Given the description of an element on the screen output the (x, y) to click on. 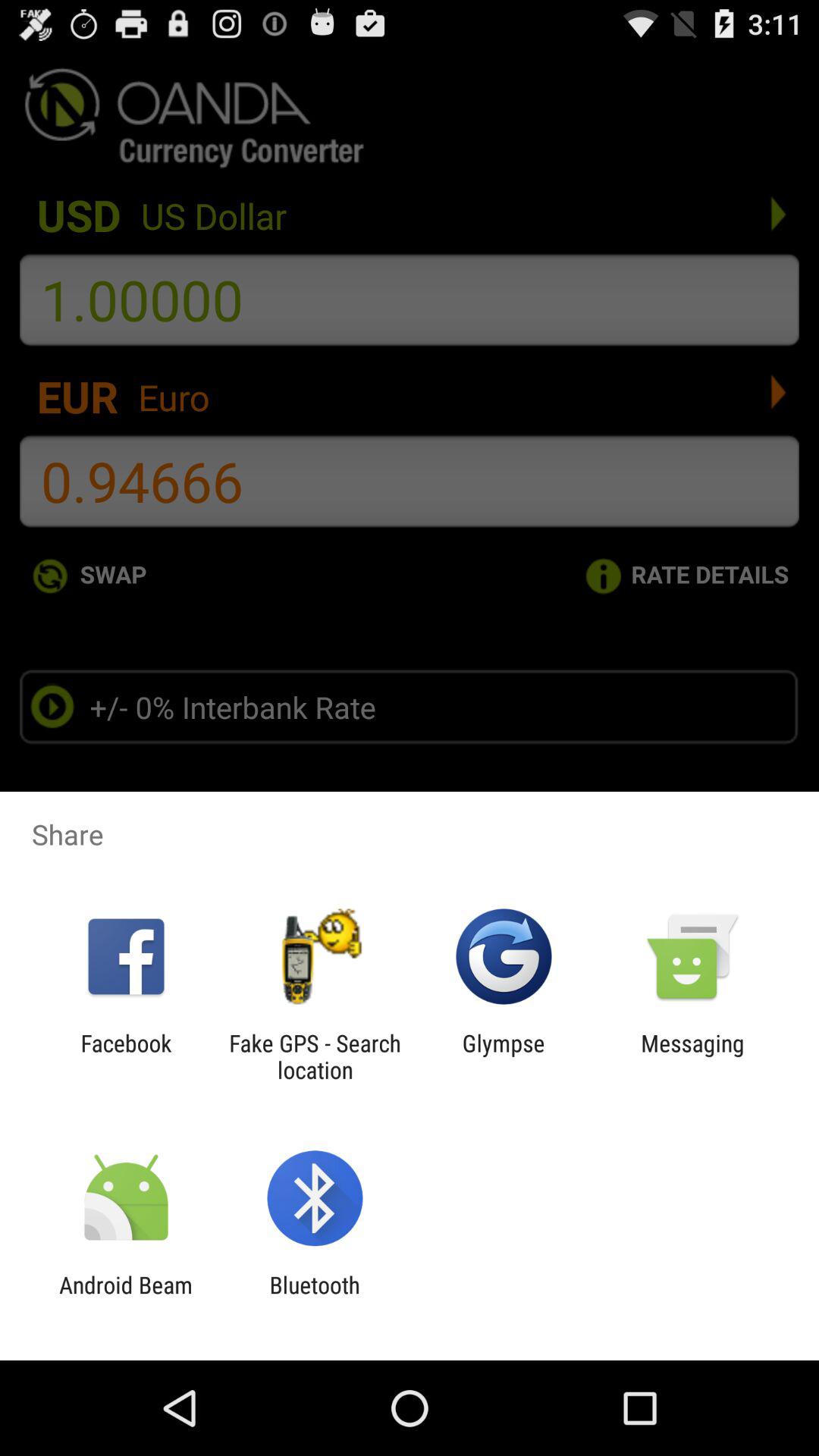
flip to the android beam icon (125, 1298)
